Given the description of an element on the screen output the (x, y) to click on. 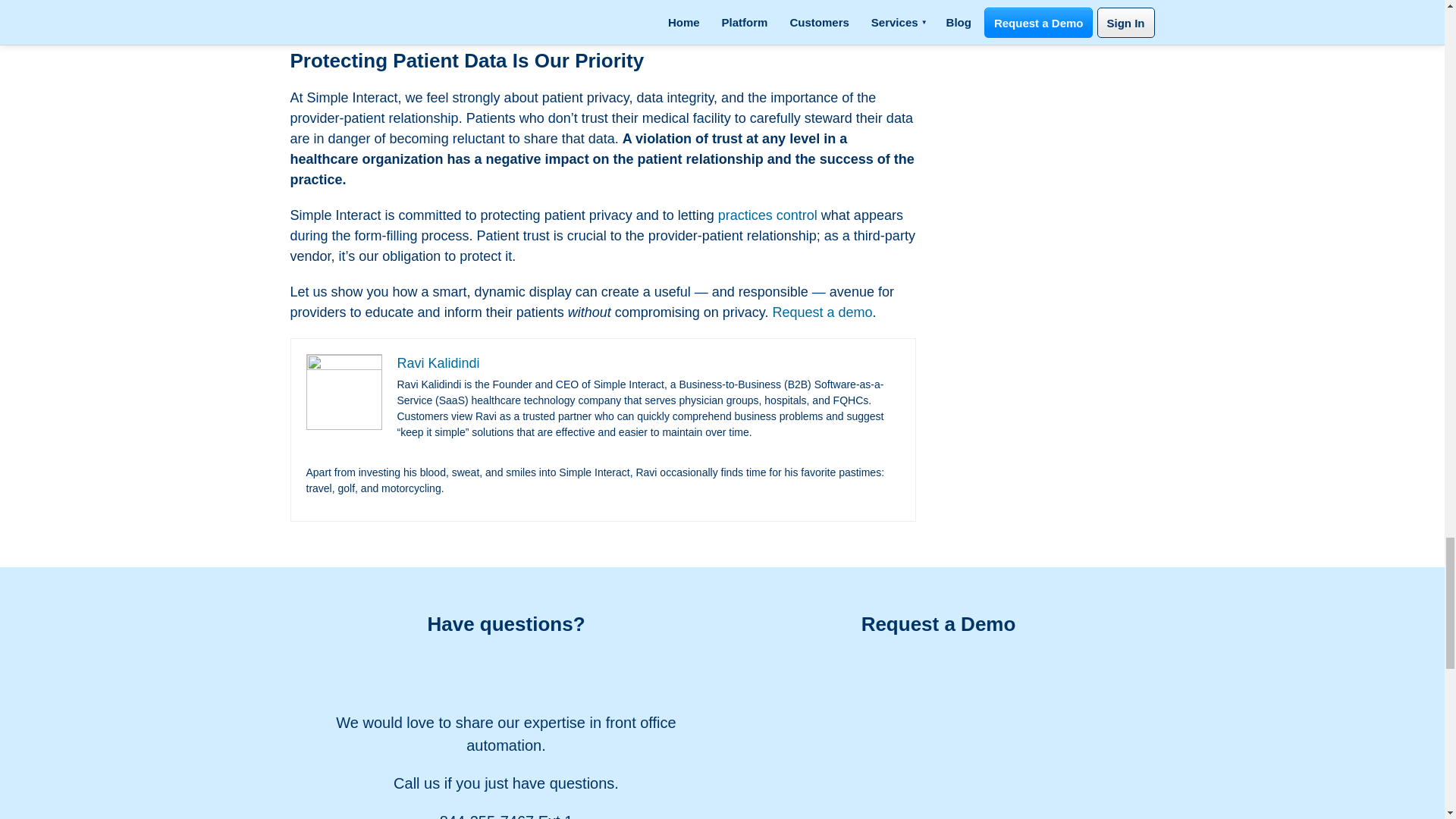
practices control (766, 215)
Request a demo (822, 312)
Ravi Kalidindi (438, 363)
